Given the description of an element on the screen output the (x, y) to click on. 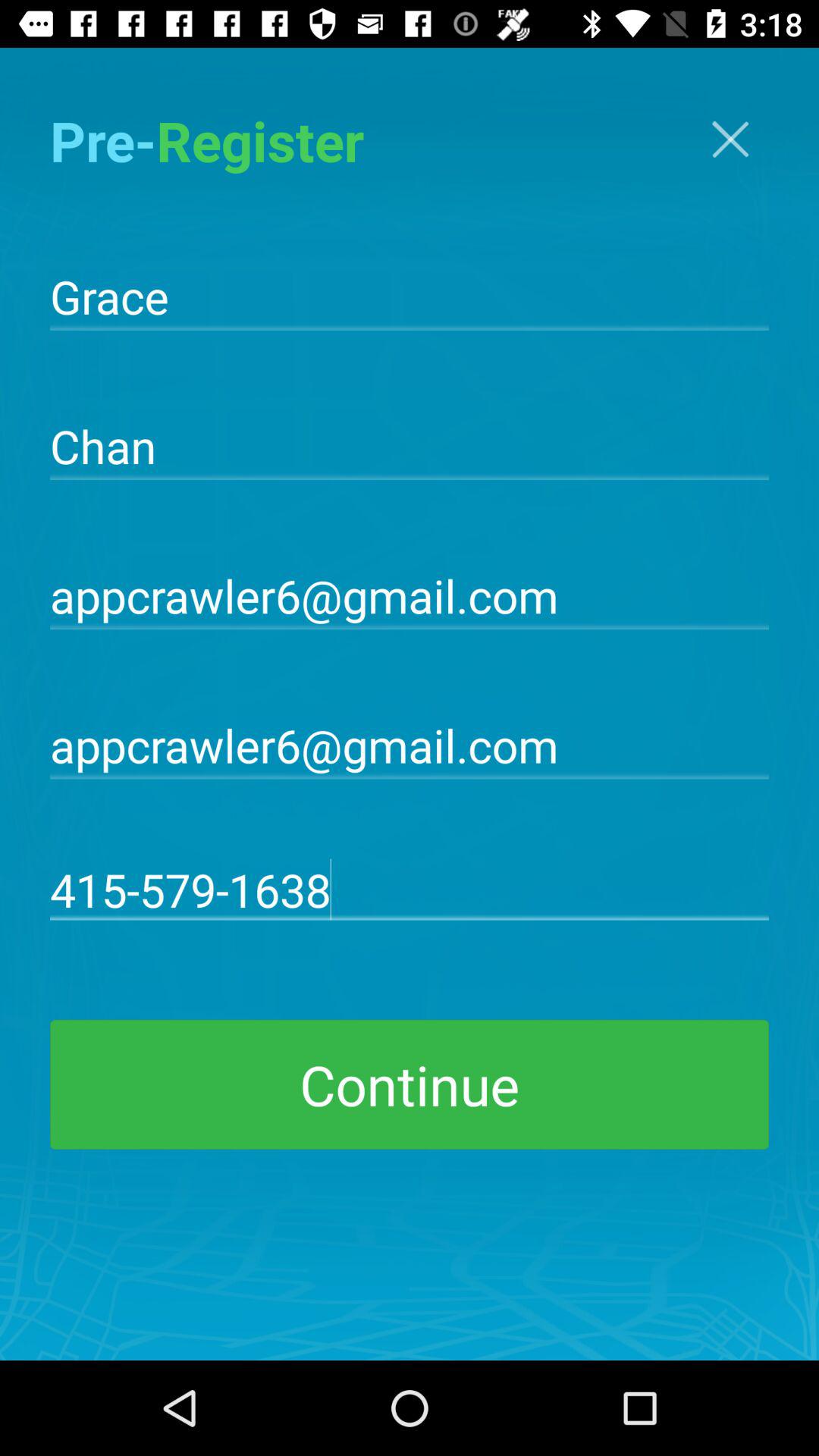
select the item below grace (409, 445)
